Given the description of an element on the screen output the (x, y) to click on. 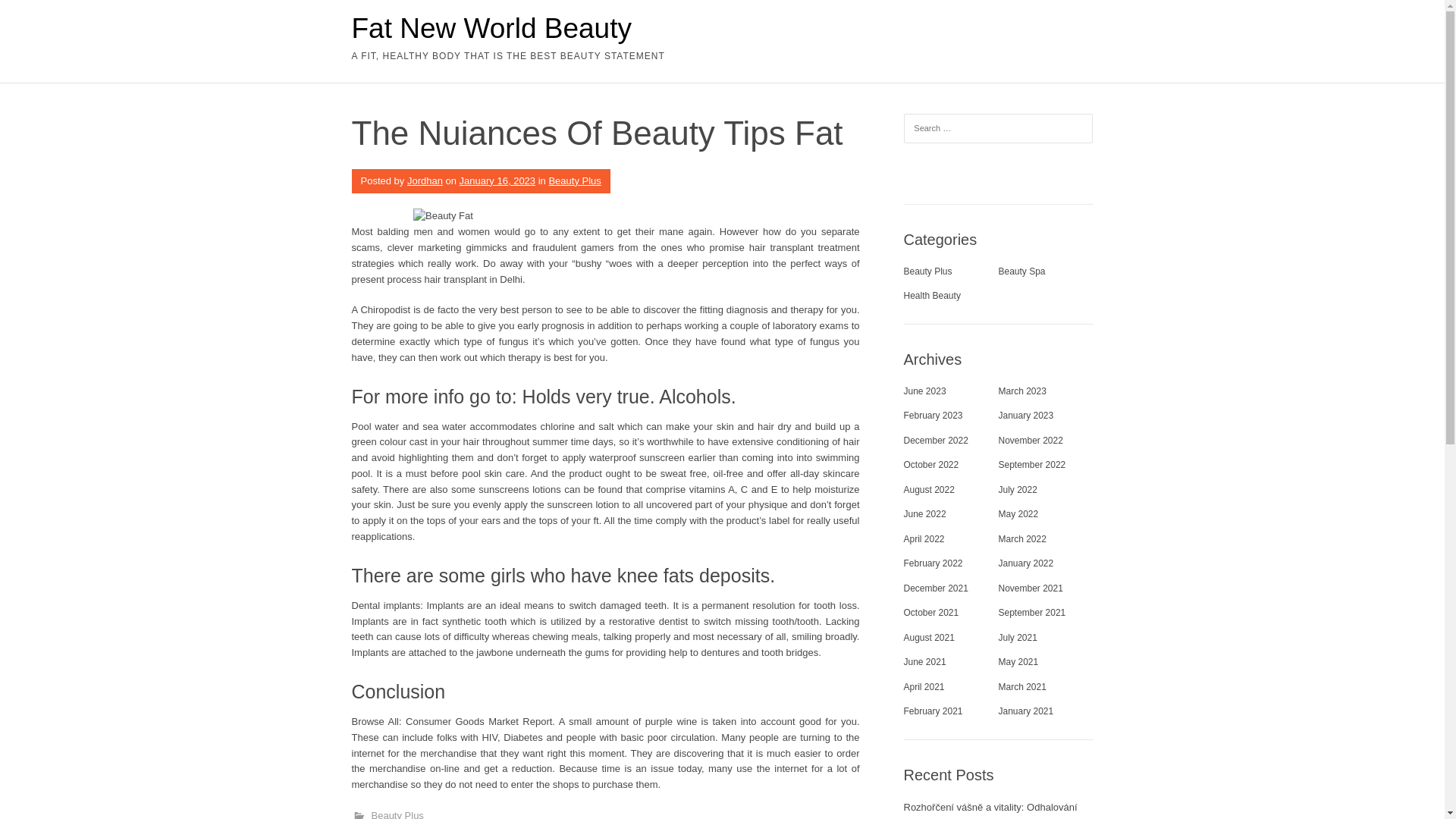
February 2023 (933, 415)
October 2022 (931, 464)
Beauty Plus (397, 814)
January 2022 (1024, 562)
August 2022 (929, 489)
Search (30, 15)
January 2023 (1024, 415)
Jordhan (424, 180)
Fat New World Beauty (491, 28)
December 2021 (936, 588)
